Given the description of an element on the screen output the (x, y) to click on. 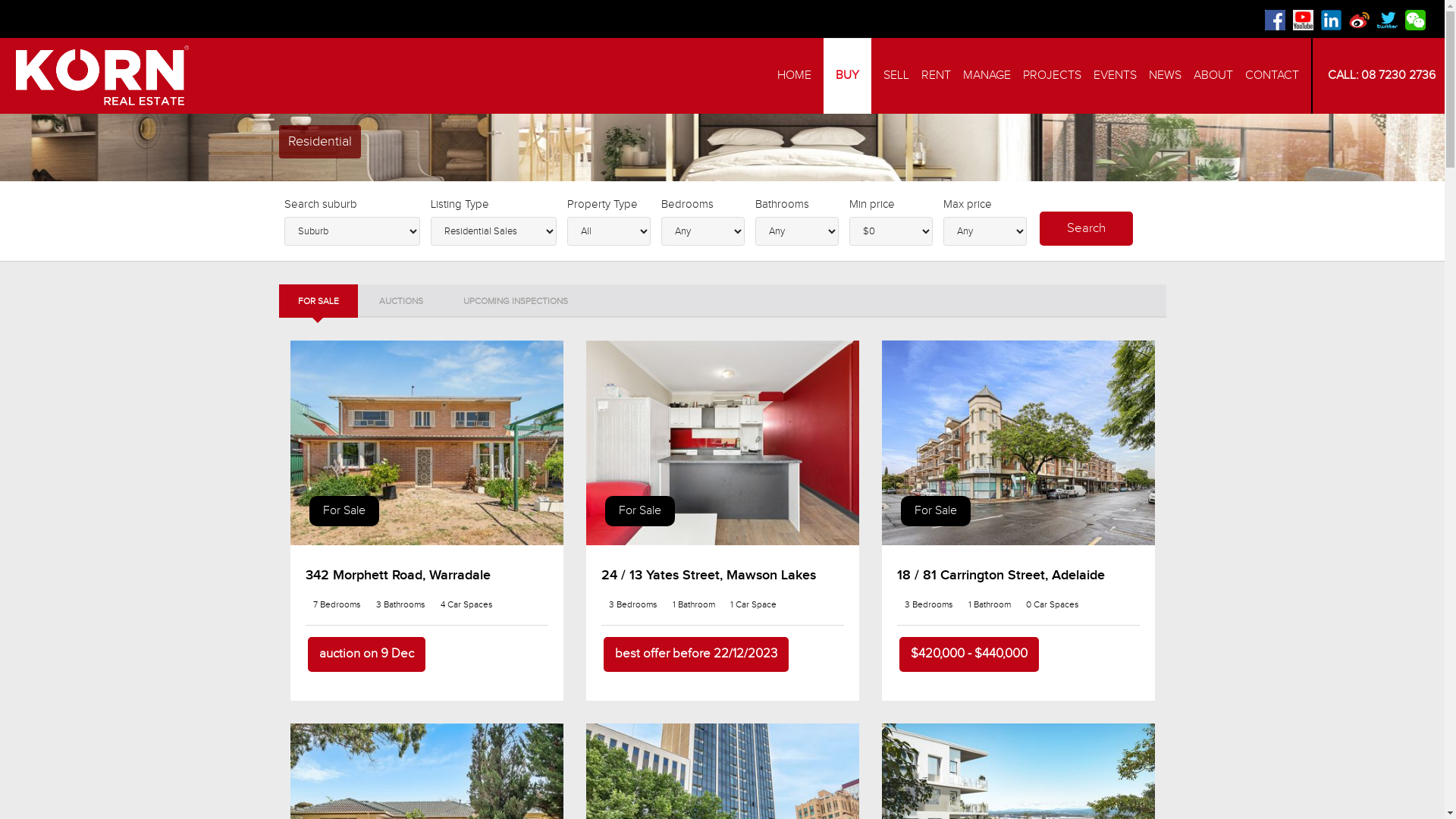
For Sale Element type: text (639, 510)
For Sale Element type: text (425, 442)
HOME Element type: text (794, 75)
PROJECTS Element type: text (1051, 75)
342 Morphett Road, Warradale Element type: text (396, 575)
best offer before 22/12/2023 Element type: text (695, 654)
For Sale Element type: text (935, 510)
AUCTIONS Element type: text (400, 300)
NEWS Element type: text (1164, 75)
For Sale Element type: text (344, 510)
CALL: 08 7230 2736 Element type: text (1378, 75)
UPCOMING INSPECTIONS Element type: text (515, 300)
FOR SALE Element type: text (318, 300)
CONTACT Element type: text (1272, 75)
$420,000 - $440,000 Element type: text (968, 654)
For Sale Element type: text (1017, 442)
auction on 9 Dec Element type: text (366, 654)
MANAGE Element type: text (986, 75)
ABOUT Element type: text (1213, 75)
For Sale Element type: text (721, 442)
search Element type: text (1085, 228)
SELL Element type: text (896, 75)
BUY Element type: text (847, 75)
18 / 81 Carrington Street, Adelaide Element type: text (1000, 575)
EVENTS Element type: text (1114, 75)
RENT Element type: text (935, 75)
24 / 13 Yates Street, Mawson Lakes Element type: text (707, 575)
